Given the description of an element on the screen output the (x, y) to click on. 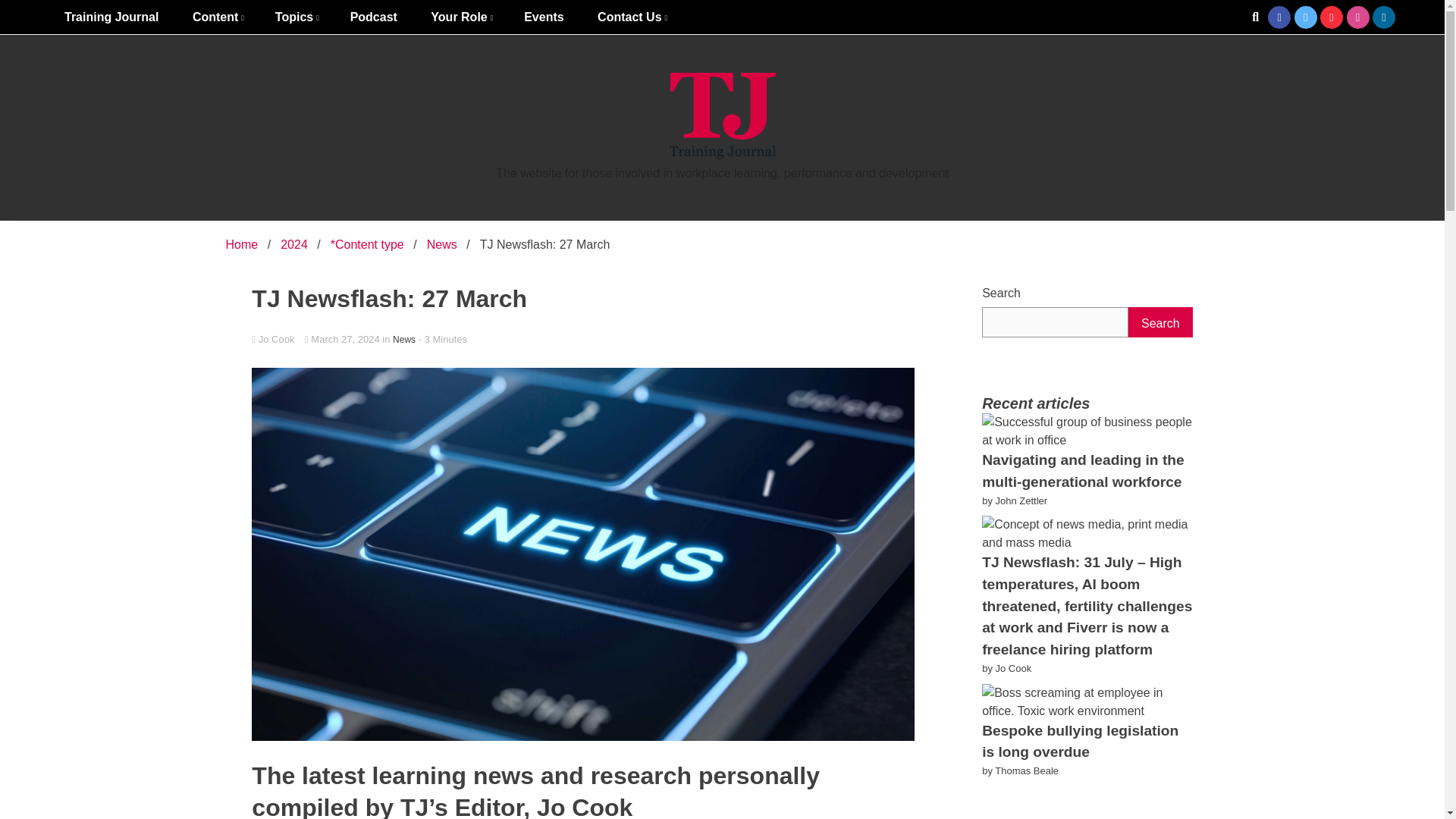
Podcast (373, 17)
Content (216, 17)
Estimated Reading Time of Article (443, 338)
Your Role (459, 17)
Events (543, 17)
Training Journal (111, 17)
Topics (295, 17)
